Given the description of an element on the screen output the (x, y) to click on. 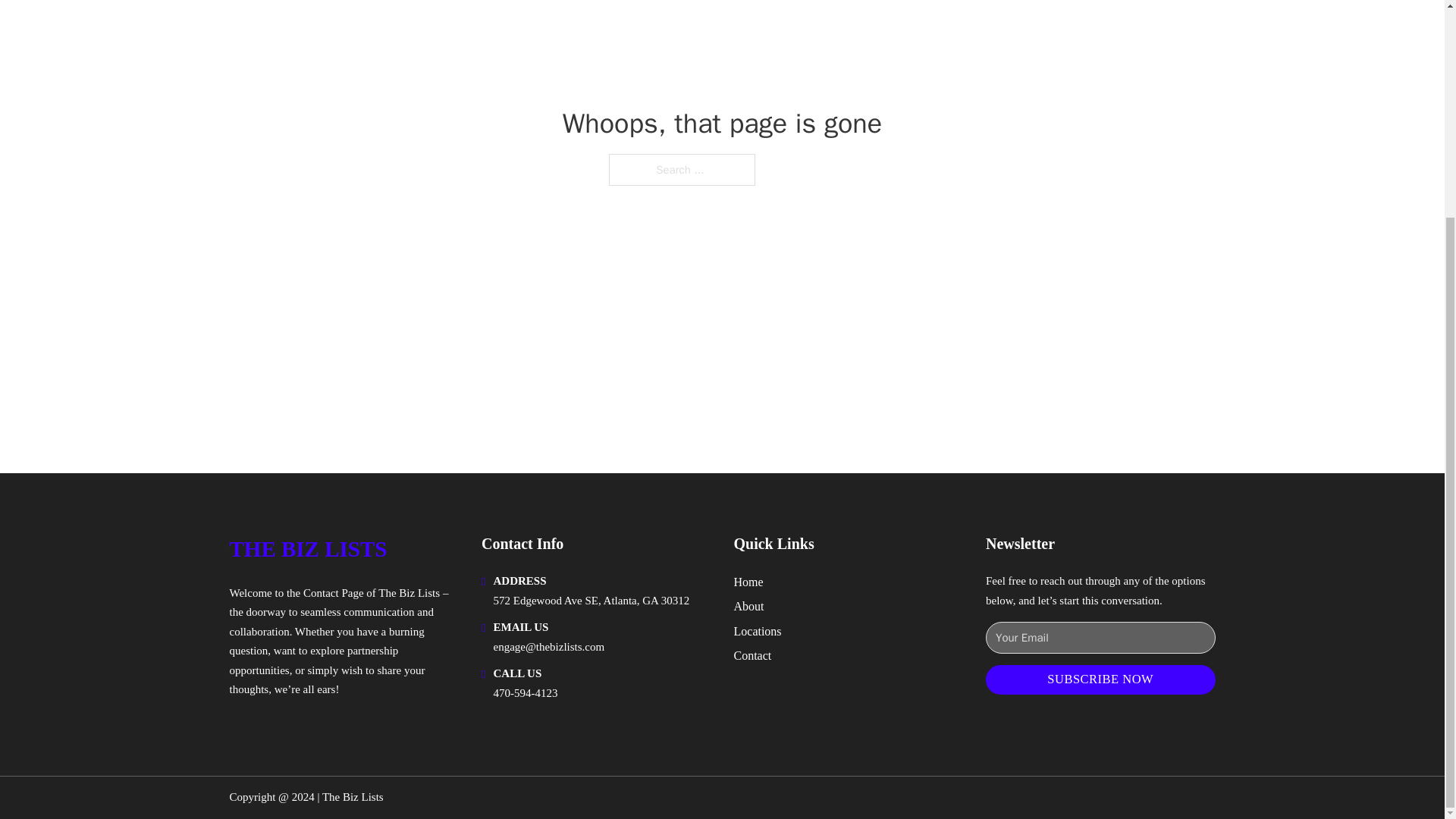
Locations (757, 630)
470-594-4123 (525, 693)
THE BIZ LISTS (307, 549)
Home (747, 581)
Contact (752, 655)
About (748, 606)
SUBSCRIBE NOW (1100, 679)
